Given the description of an element on the screen output the (x, y) to click on. 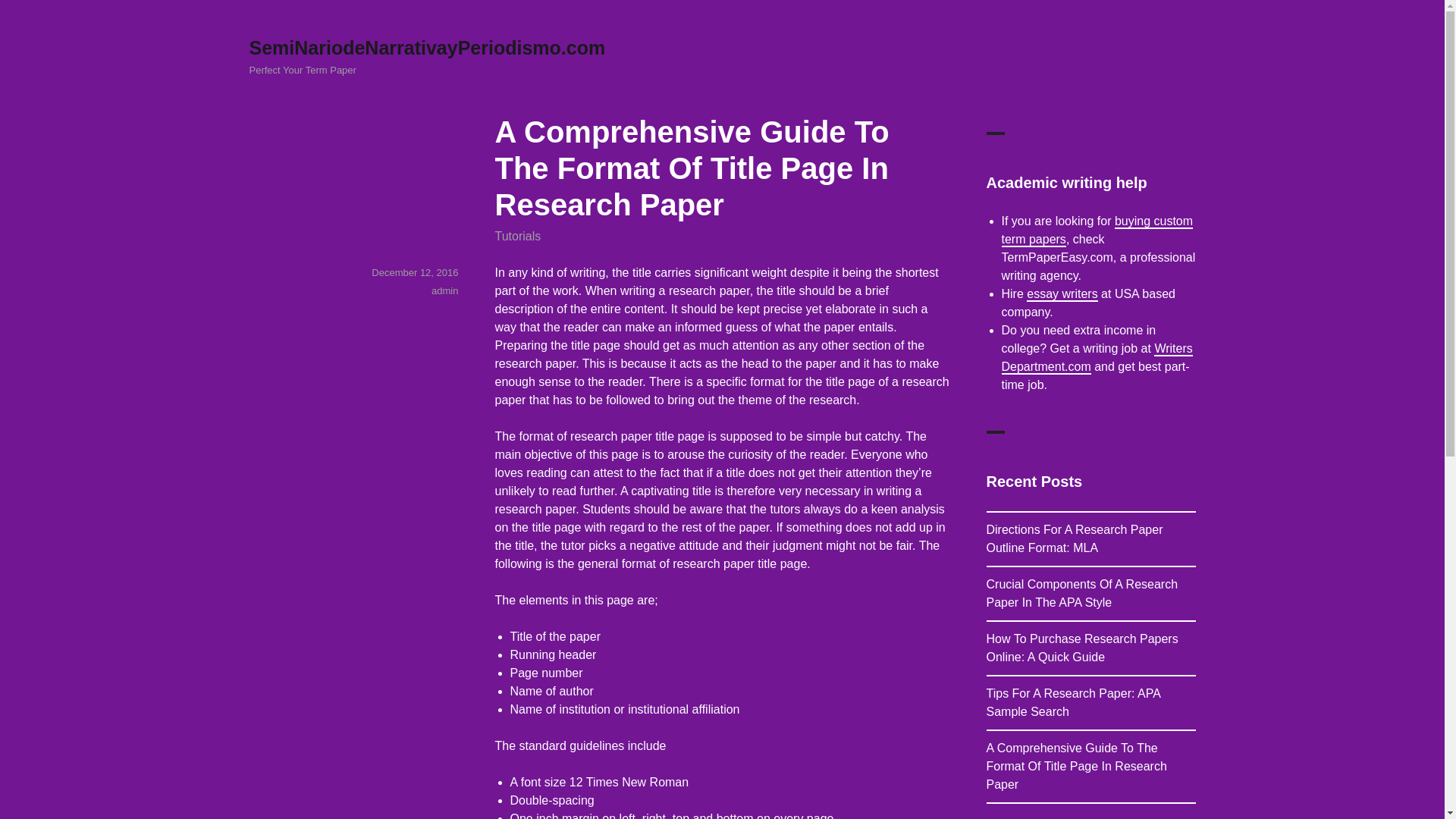
SemiNariodeNarrativayPeriodismo.com (426, 47)
essay writers (1061, 293)
Writers Department.com (1096, 357)
buying custom term papers (1096, 229)
Tips For A Research Paper: APA Sample Search (1071, 702)
How To Purchase Research Papers Online: A Quick Guide (1081, 647)
Crucial Components Of A Research Paper In The APA Style (1081, 593)
December 12, 2016 (414, 272)
Directions For A Research Paper Outline Format: MLA (1073, 538)
admin (444, 290)
Tutorials (517, 236)
